Given the description of an element on the screen output the (x, y) to click on. 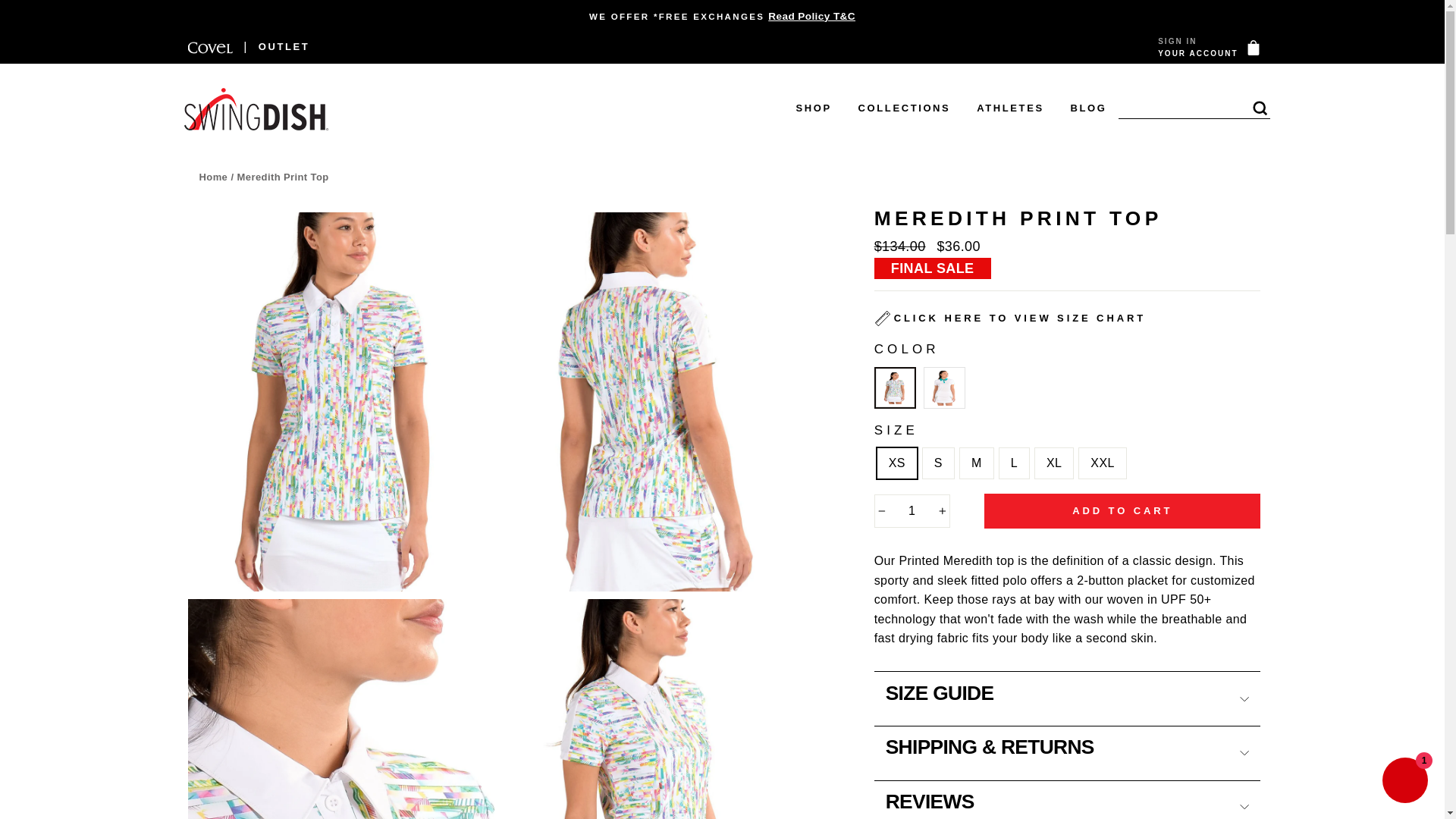
Back to the frontpage (212, 176)
Shopify online store chat (1404, 781)
1 (912, 510)
